Given the description of an element on the screen output the (x, y) to click on. 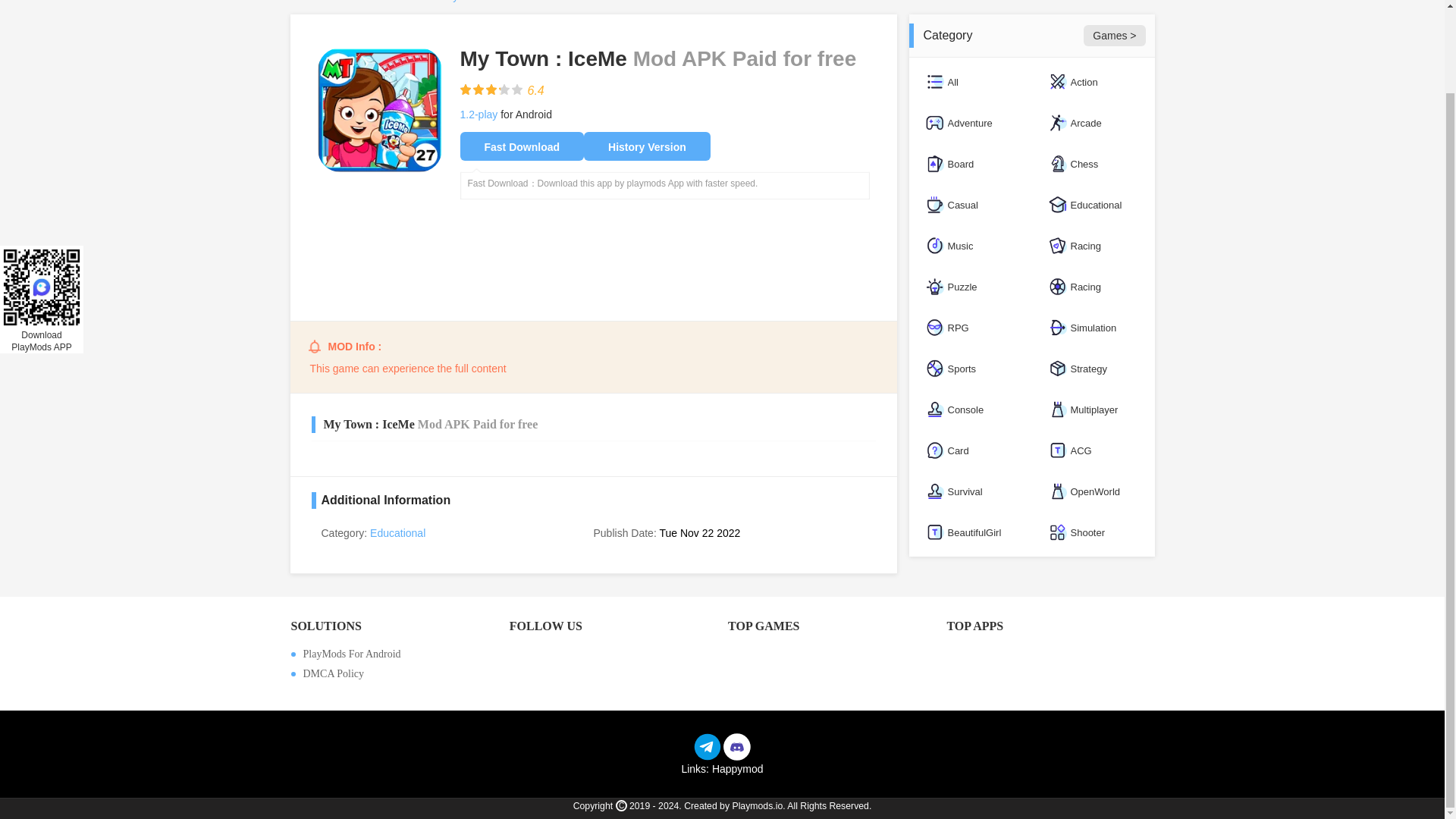
Console (969, 409)
C (621, 805)
Action (1092, 81)
Racing (1092, 286)
Educational (1092, 204)
ACG (1092, 449)
Adventure (969, 122)
Puzzle (969, 286)
Chess (1092, 163)
History Version (646, 145)
BeautifulGirl (969, 531)
Board (969, 163)
OpenWorld (1092, 490)
Shooter (1092, 531)
All (969, 81)
